Given the description of an element on the screen output the (x, y) to click on. 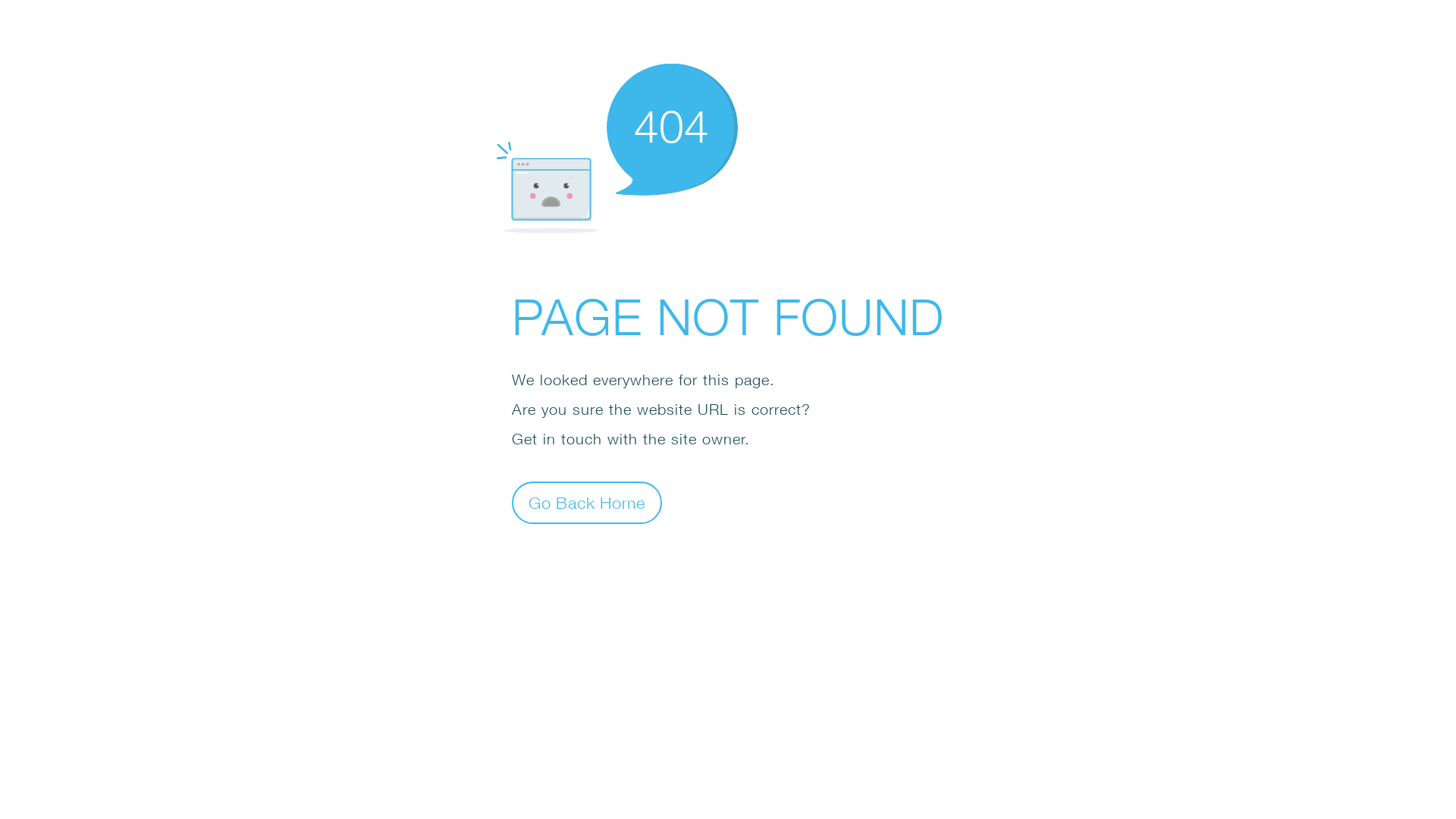
Go Back Home Element type: text (586, 502)
